Given the description of an element on the screen output the (x, y) to click on. 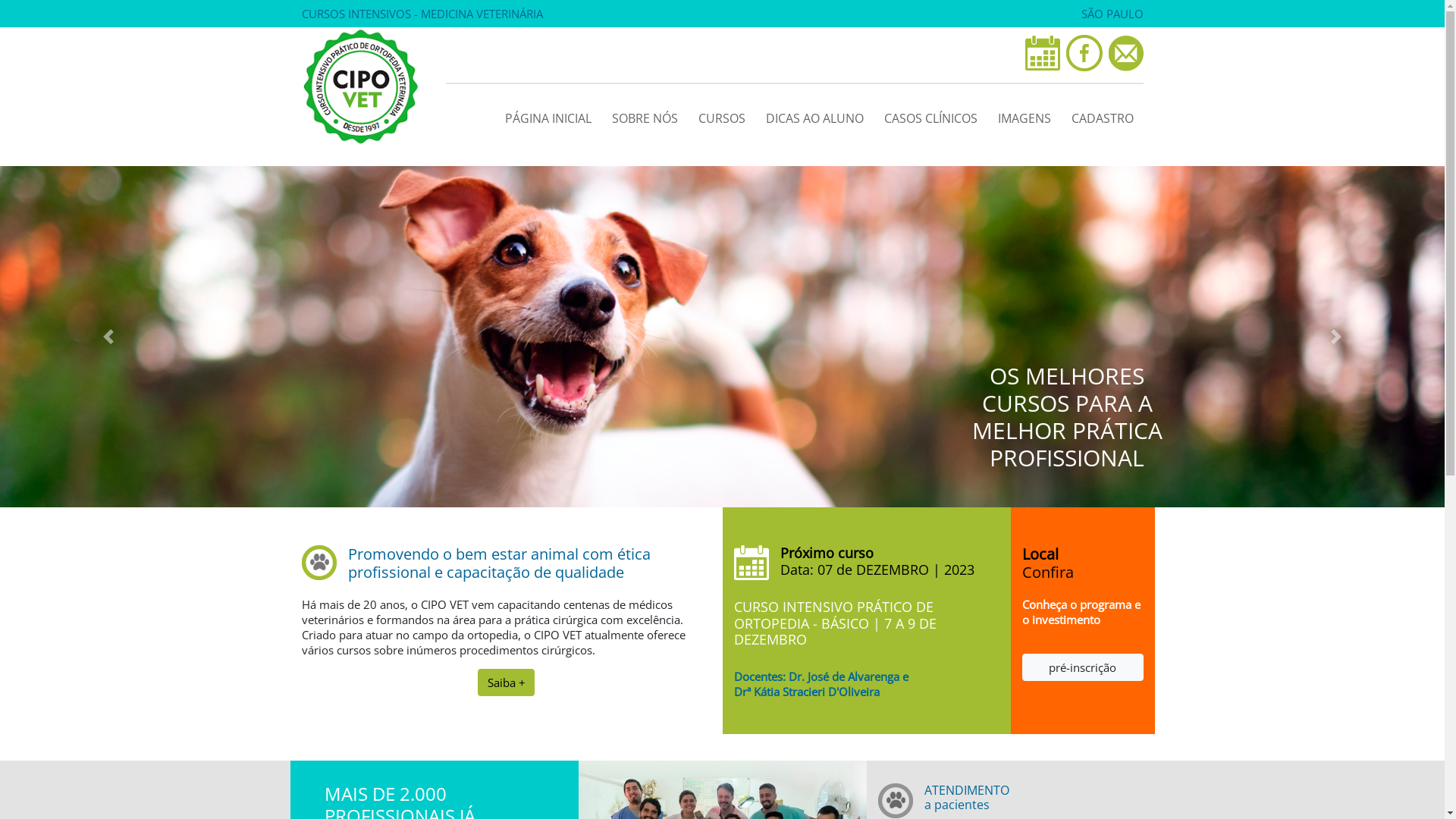
Agenda Element type: hover (1042, 52)
Saiba + Element type: text (505, 682)
IMAGENS Element type: text (1023, 115)
DICAS AO ALUNO Element type: text (813, 115)
Fale conosco Element type: hover (1125, 52)
CURSOS Element type: text (721, 115)
CADASTRO Element type: text (1102, 115)
Anterior Element type: text (108, 336)
Facebook Element type: hover (1084, 52)
